Given the description of an element on the screen output the (x, y) to click on. 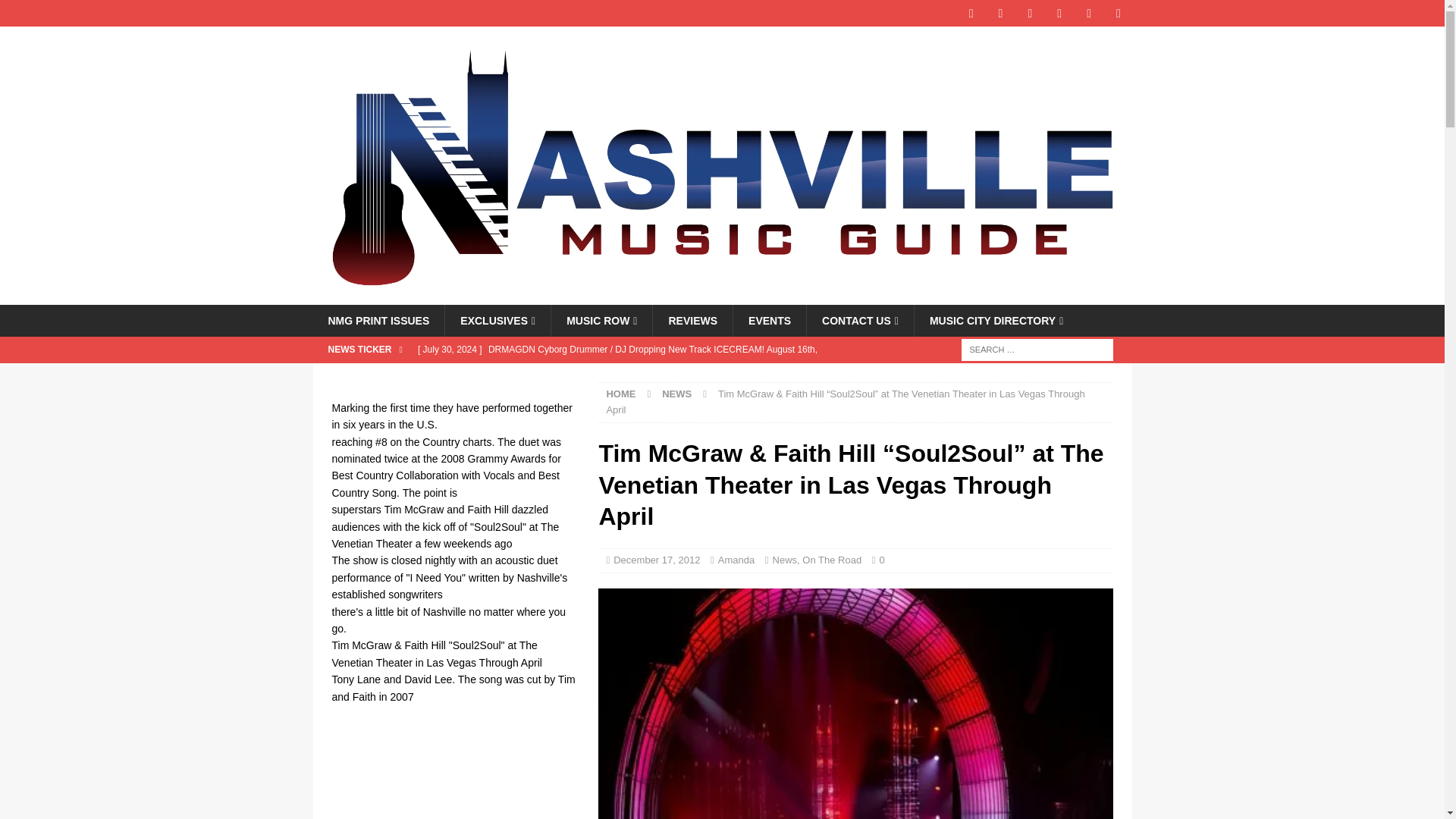
REVIEWS (692, 320)
CONTACT US (860, 320)
EXCLUSIVES (497, 320)
MUSIC CITY DIRECTORY (996, 320)
EVENTS (769, 320)
MUSIC ROW (601, 320)
NMG PRINT ISSUES (378, 320)
